Given the description of an element on the screen output the (x, y) to click on. 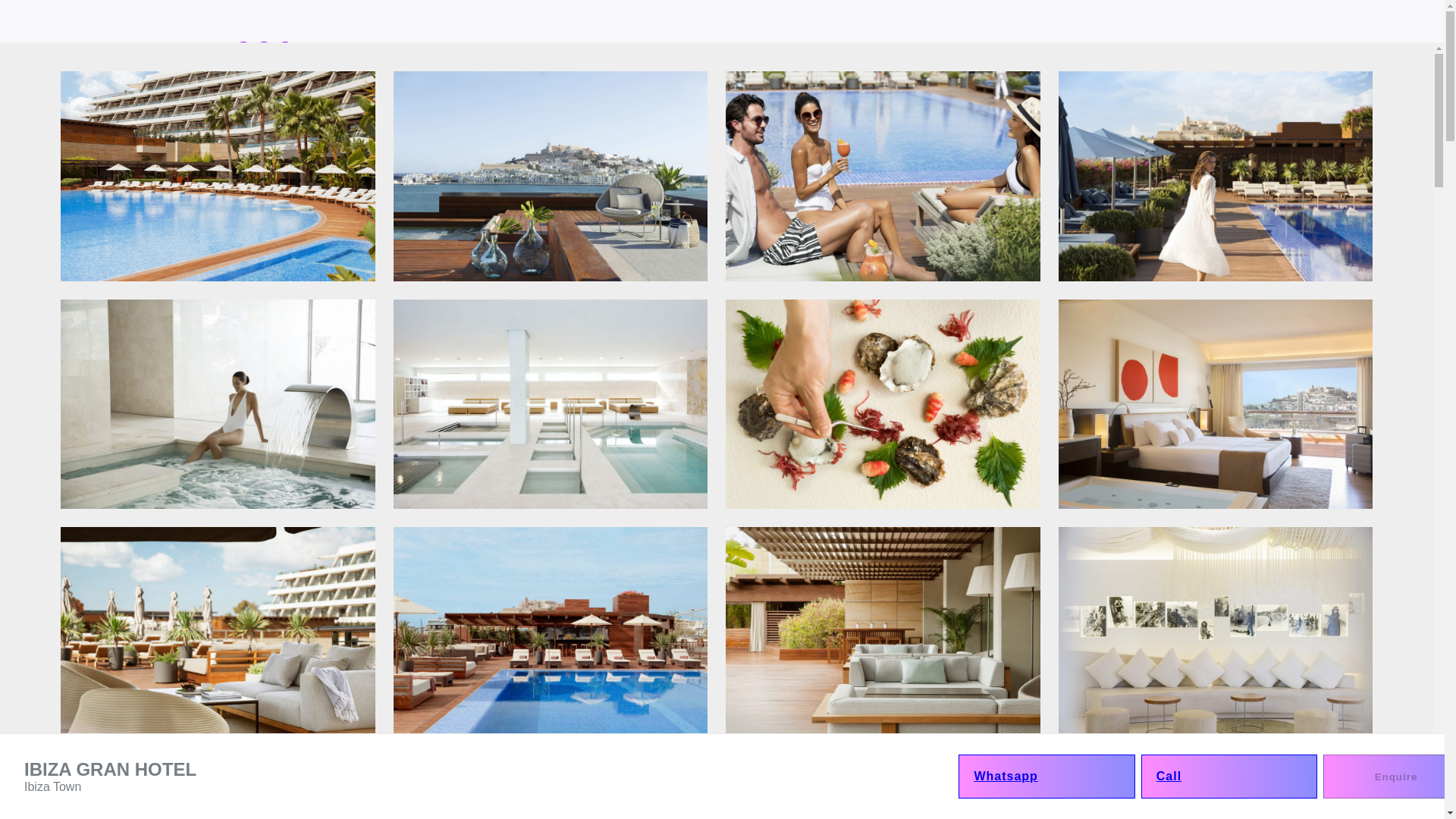
DESTINO (1043, 470)
PACHA (1251, 393)
BLUE MARLIN IBIZA (1043, 444)
BOUTIQUE (1043, 216)
4 BED (1251, 242)
HOTELS (1025, 179)
DC10 (1251, 548)
IBIZA ROCKS (1043, 547)
LARGE POWER BOATS (1043, 698)
Boutique (1043, 216)
O BEACH IBIZA (1043, 495)
O Beach Ibiza (1043, 495)
EDEN (1251, 574)
HARD ROCK (1043, 573)
5 Bed (1251, 268)
